Given the description of an element on the screen output the (x, y) to click on. 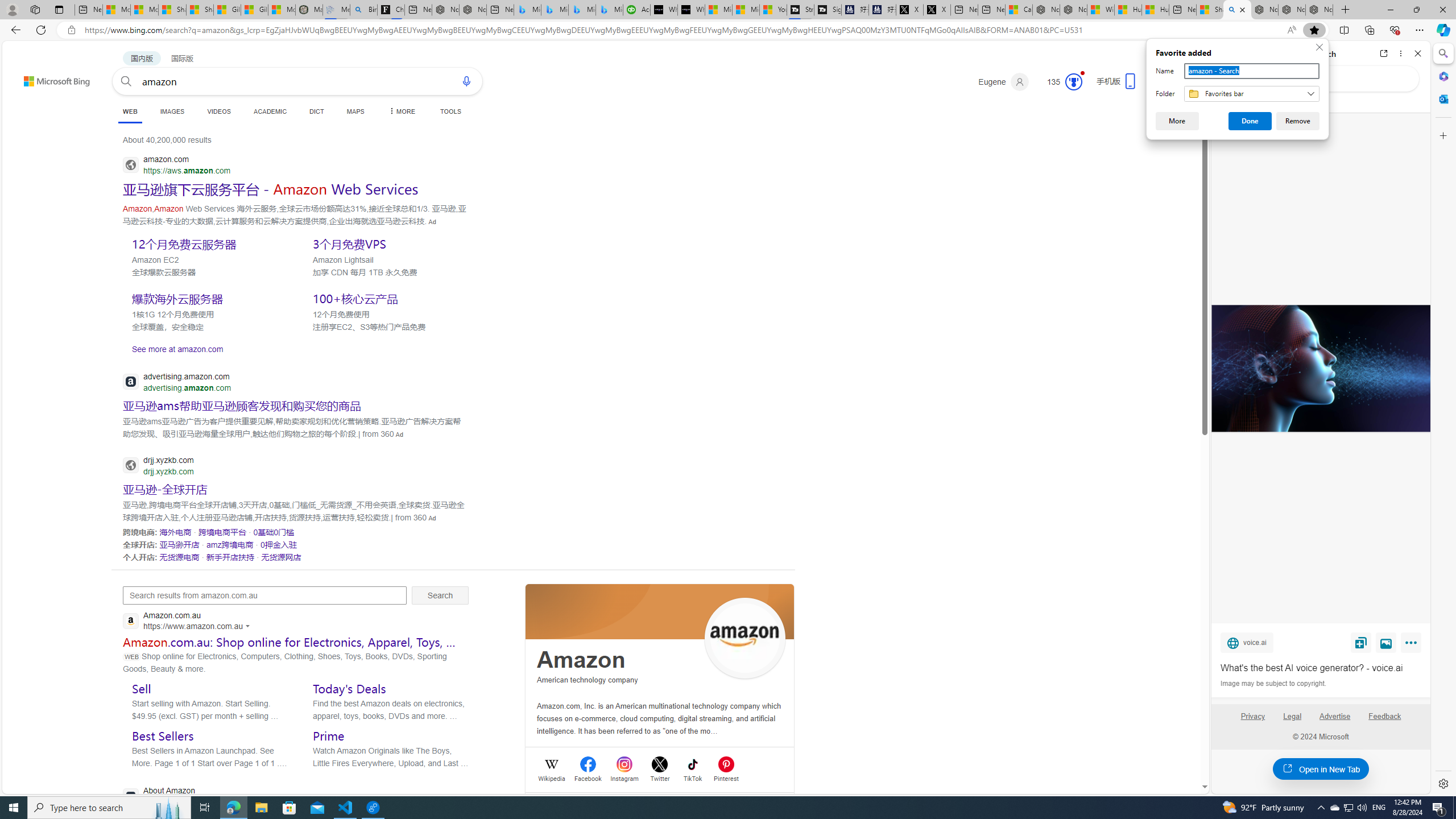
MAPS (355, 111)
Search results from amazon.com.au (264, 594)
Q2790: 100% (1361, 807)
File Explorer (261, 807)
Class: spl_logobg (659, 611)
MORE (400, 111)
Microsoft Store (289, 807)
Prime (329, 735)
SERP,5572 (178, 556)
Search highlights icon opens search home window (167, 807)
voice.ai (1247, 642)
